Given the description of an element on the screen output the (x, y) to click on. 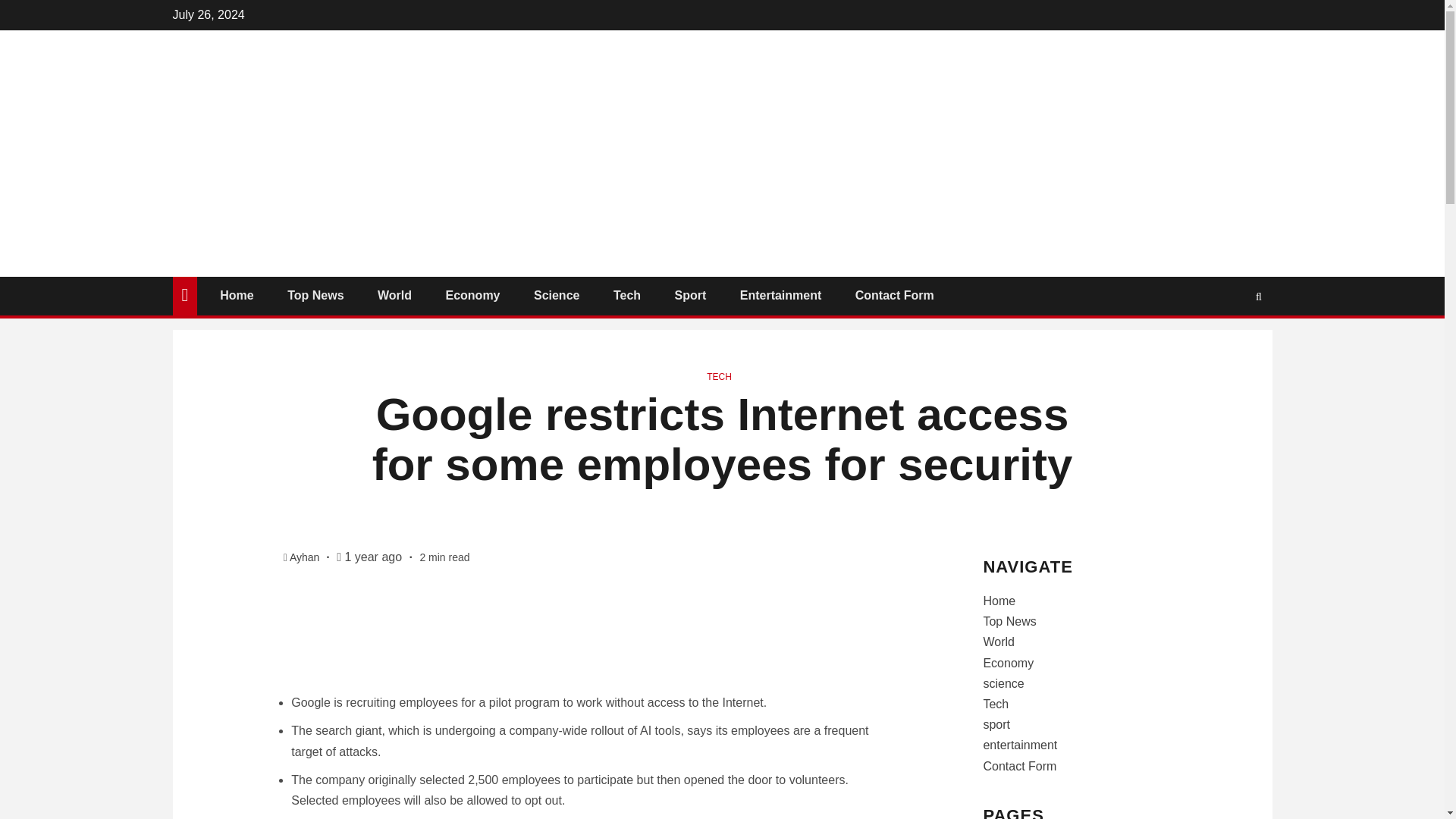
World (394, 295)
TECH (719, 376)
Economy (472, 295)
Home (998, 600)
Search (1229, 341)
Top News (314, 295)
World (998, 641)
Contact Form (895, 295)
Tech (626, 295)
Sport (690, 295)
Entertainment (780, 295)
Top News (1008, 621)
Ayhan (305, 557)
Science (556, 295)
